Given the description of an element on the screen output the (x, y) to click on. 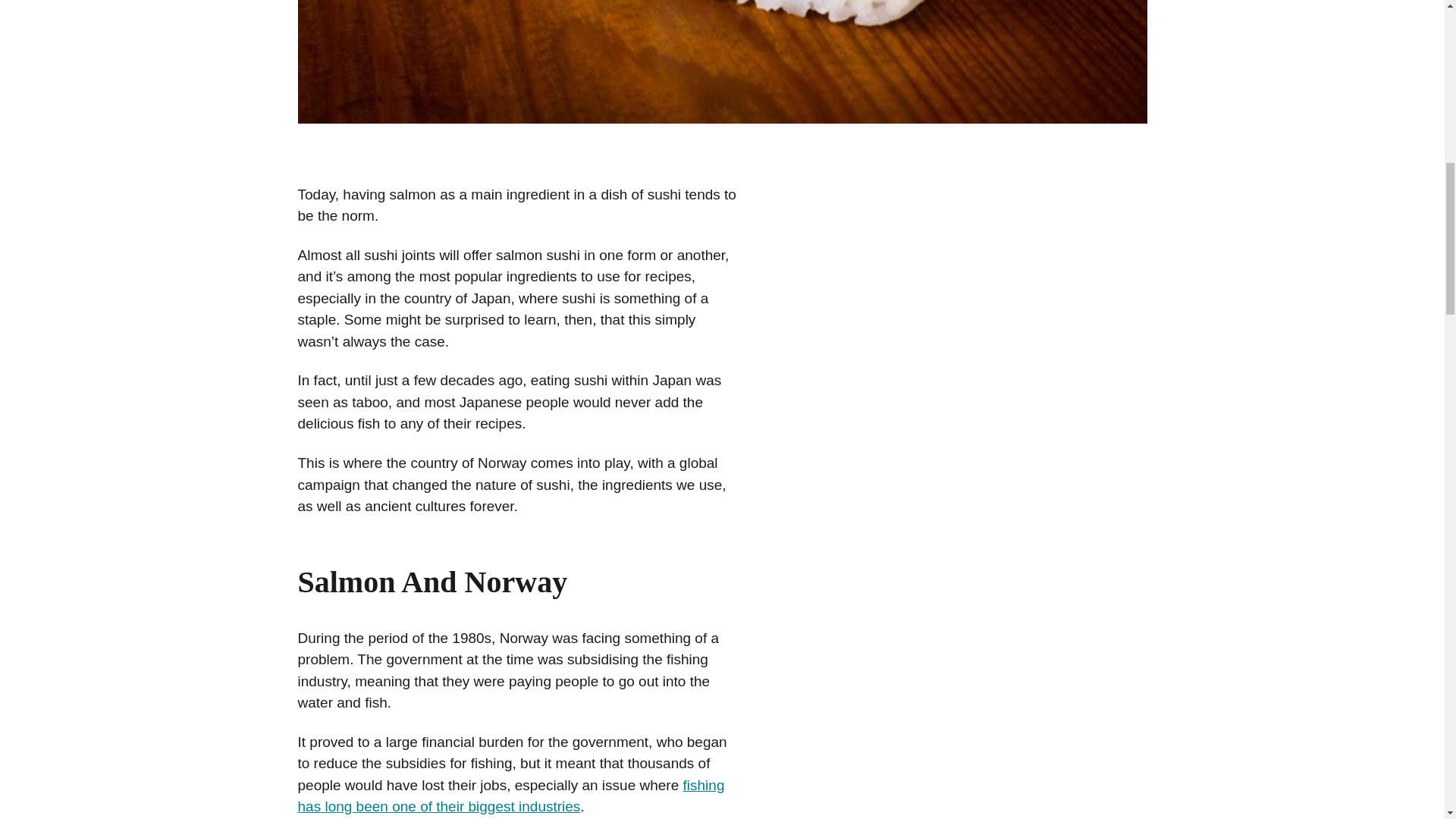
fishing has long been one of their biggest industries (510, 795)
